Given the description of an element on the screen output the (x, y) to click on. 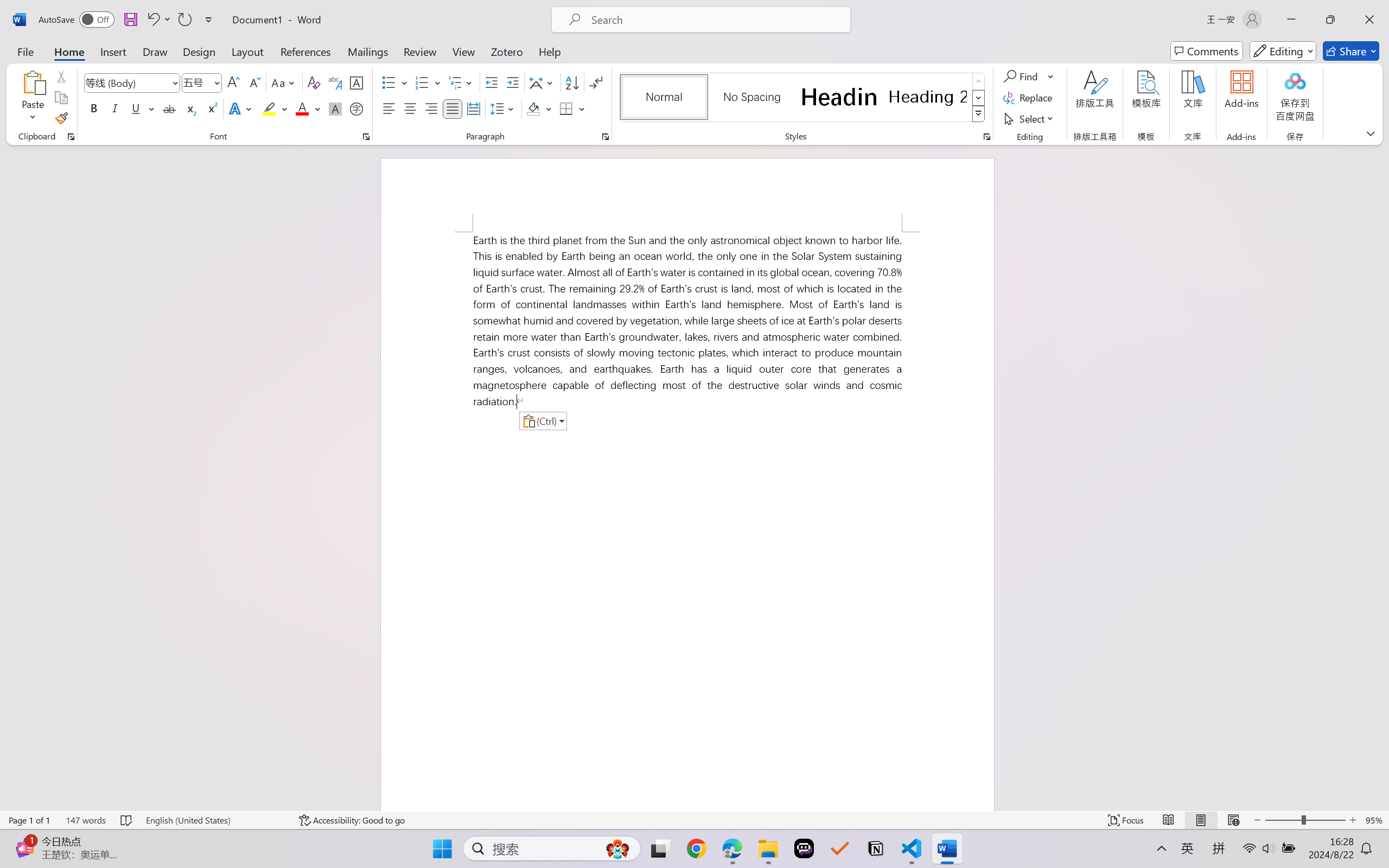
Multilevel List (461, 82)
Enclose Characters... (356, 108)
Page Number Page 1 of 1 (29, 819)
Character Border (356, 82)
Font Color Red (302, 108)
